Given the description of an element on the screen output the (x, y) to click on. 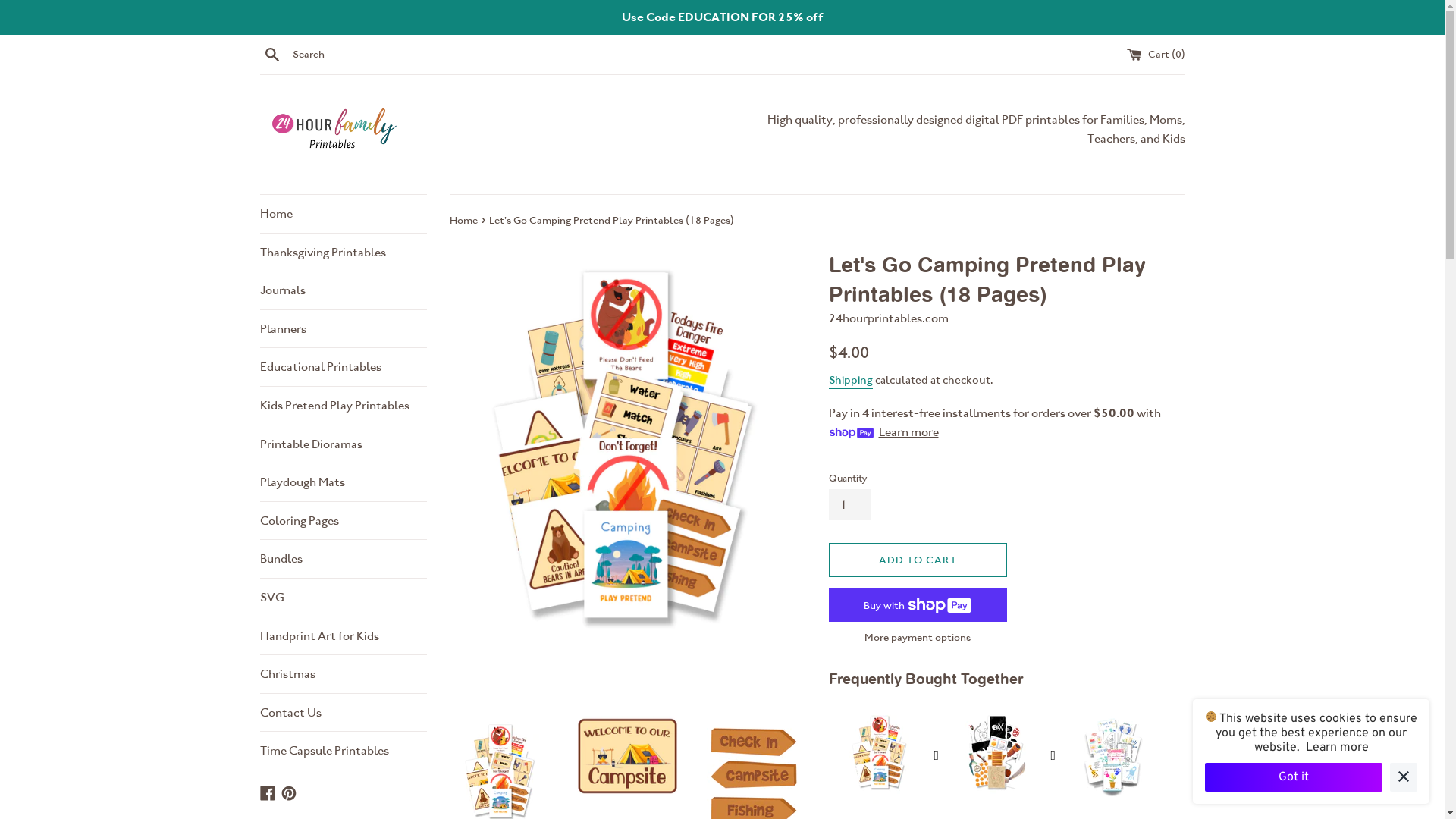
Pinterest Element type: text (287, 791)
Home Element type: text (463, 219)
Learn more Element type: text (1336, 747)
Printable Dioramas Element type: text (342, 444)
Search Element type: text (271, 53)
ADD TO CART Element type: text (917, 559)
Planners Element type: text (342, 329)
Shipping Element type: text (850, 381)
Cart (0) Element type: text (1155, 53)
Home Element type: text (342, 213)
Playdough Mats Element type: text (342, 482)
Got it Element type: text (1293, 776)
Journals Element type: text (342, 290)
Christmas Element type: text (342, 674)
Thanksgiving Printables Element type: text (342, 252)
Contact Us Element type: text (342, 712)
Handprint Art for Kids Element type: text (342, 636)
Facebook Element type: text (266, 791)
Educational Printables Element type: text (342, 366)
Coloring Pages Element type: text (342, 520)
Time Capsule Printables Element type: text (342, 750)
SVG Element type: text (342, 597)
Kids Pretend Play Printables Element type: text (342, 405)
More payment options Element type: text (917, 636)
Bundles Element type: text (342, 558)
